Given the description of an element on the screen output the (x, y) to click on. 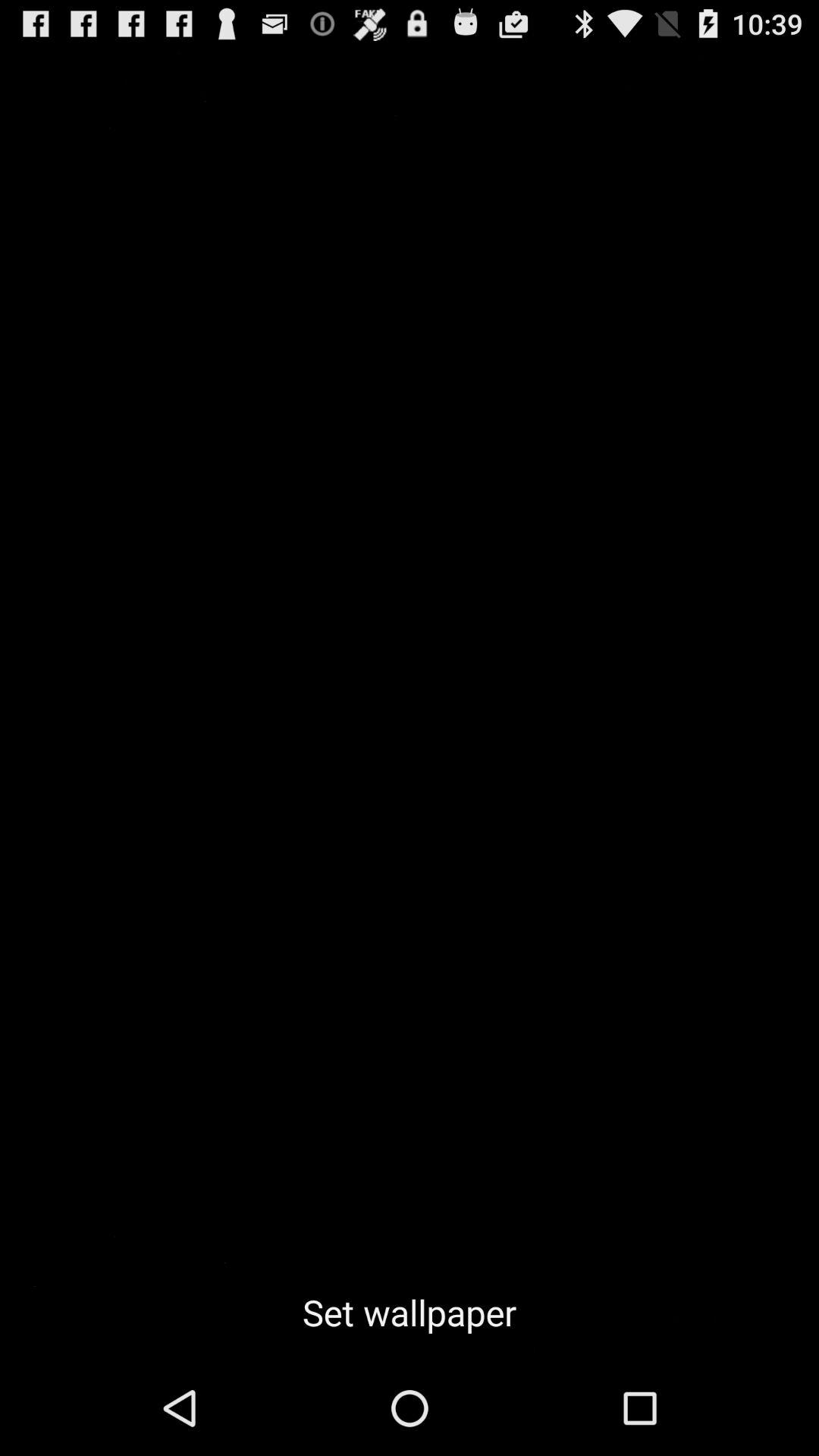
select the icon at the bottom (409, 1312)
